Given the description of an element on the screen output the (x, y) to click on. 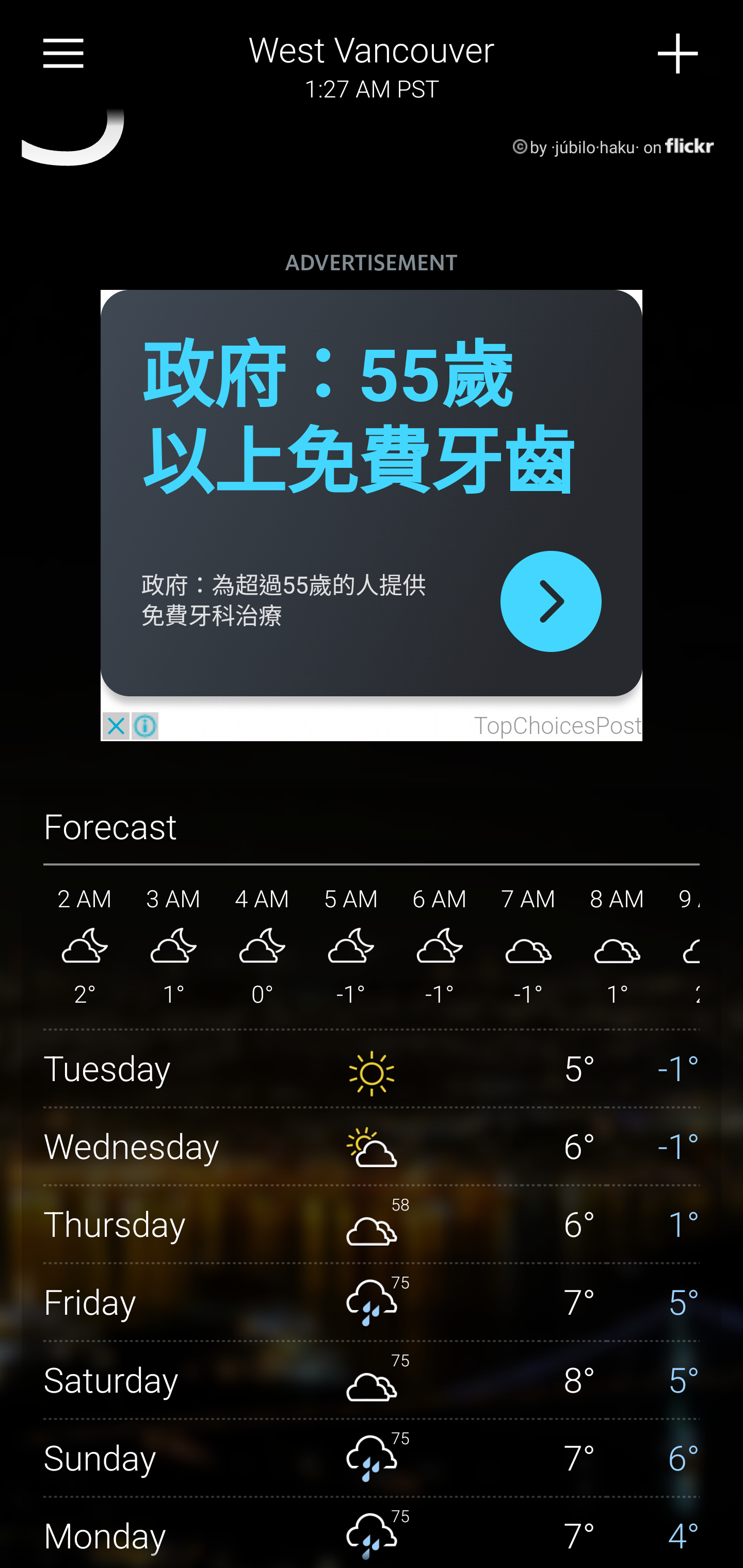
Sidebar (64, 54)
Add City (678, 53)
政府：55歲 以上免費牙齒 政府：55歲 
 以上免費牙齒 (357, 420)
政府：為超過55歲的人提供 免費牙科治療 政府：為超過55歲的人提供 
 免費牙科治療 (283, 600)
TopChoicesPost (557, 726)
